Given the description of an element on the screen output the (x, y) to click on. 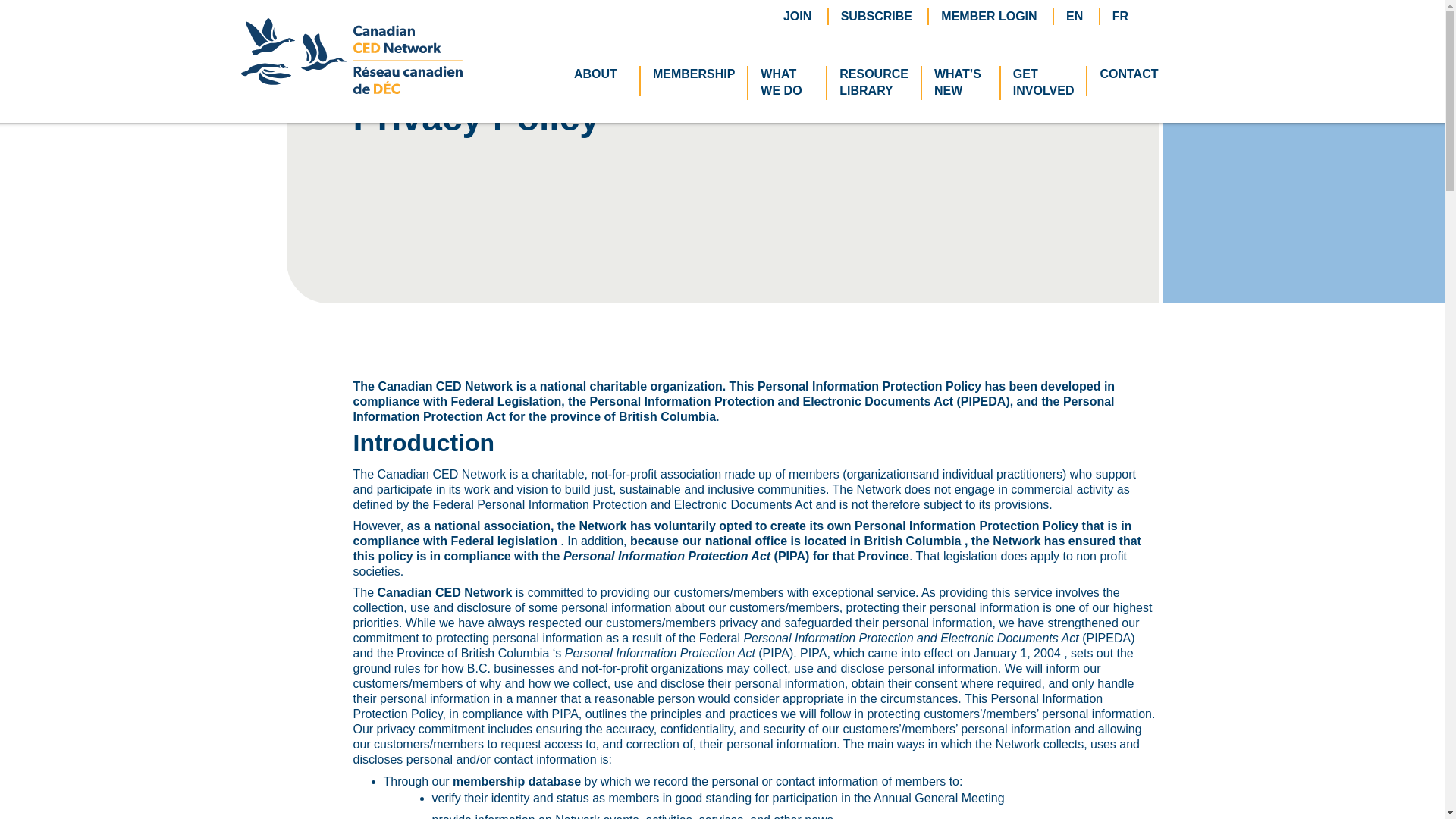
Canadian CED Network (352, 89)
EN (1074, 15)
GET INVOLVED (1043, 82)
ABOUT (600, 74)
CONTACT (1128, 74)
SUBSCRIBE (876, 15)
Home (369, 37)
MEMBER LOGIN (988, 15)
RESOURCE LIBRARY (786, 82)
HOME (874, 82)
MEMBERSHIP (369, 37)
JOIN (693, 74)
FR (796, 15)
